Given the description of an element on the screen output the (x, y) to click on. 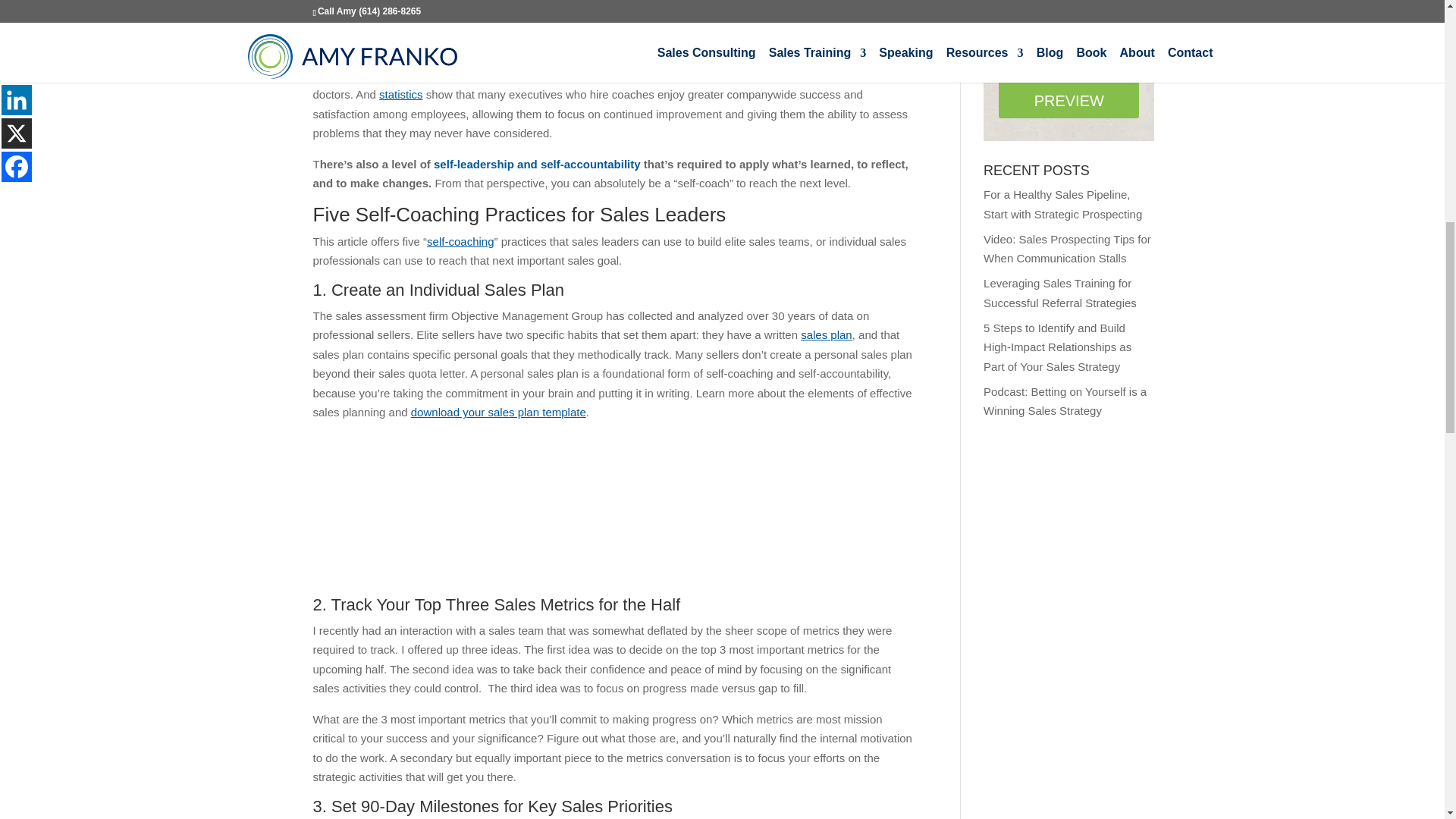
self-leadership and self-accountability (538, 164)
download your sales plan template (498, 411)
self-coaching (459, 241)
statistics (400, 93)
sales plan (825, 334)
